Given the description of an element on the screen output the (x, y) to click on. 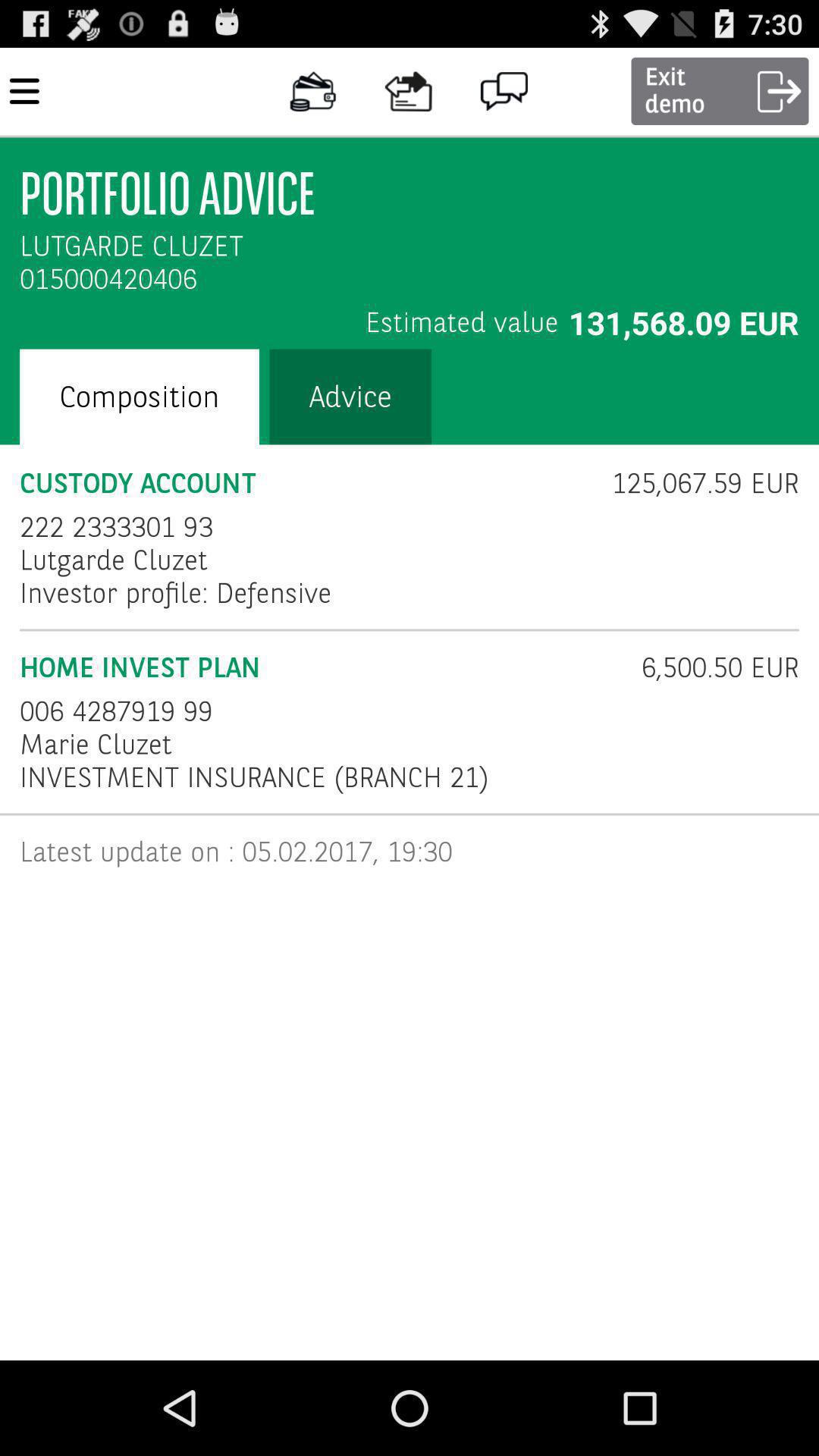
click item below the lutgarde cluzet checkbox (175, 592)
